Given the description of an element on the screen output the (x, y) to click on. 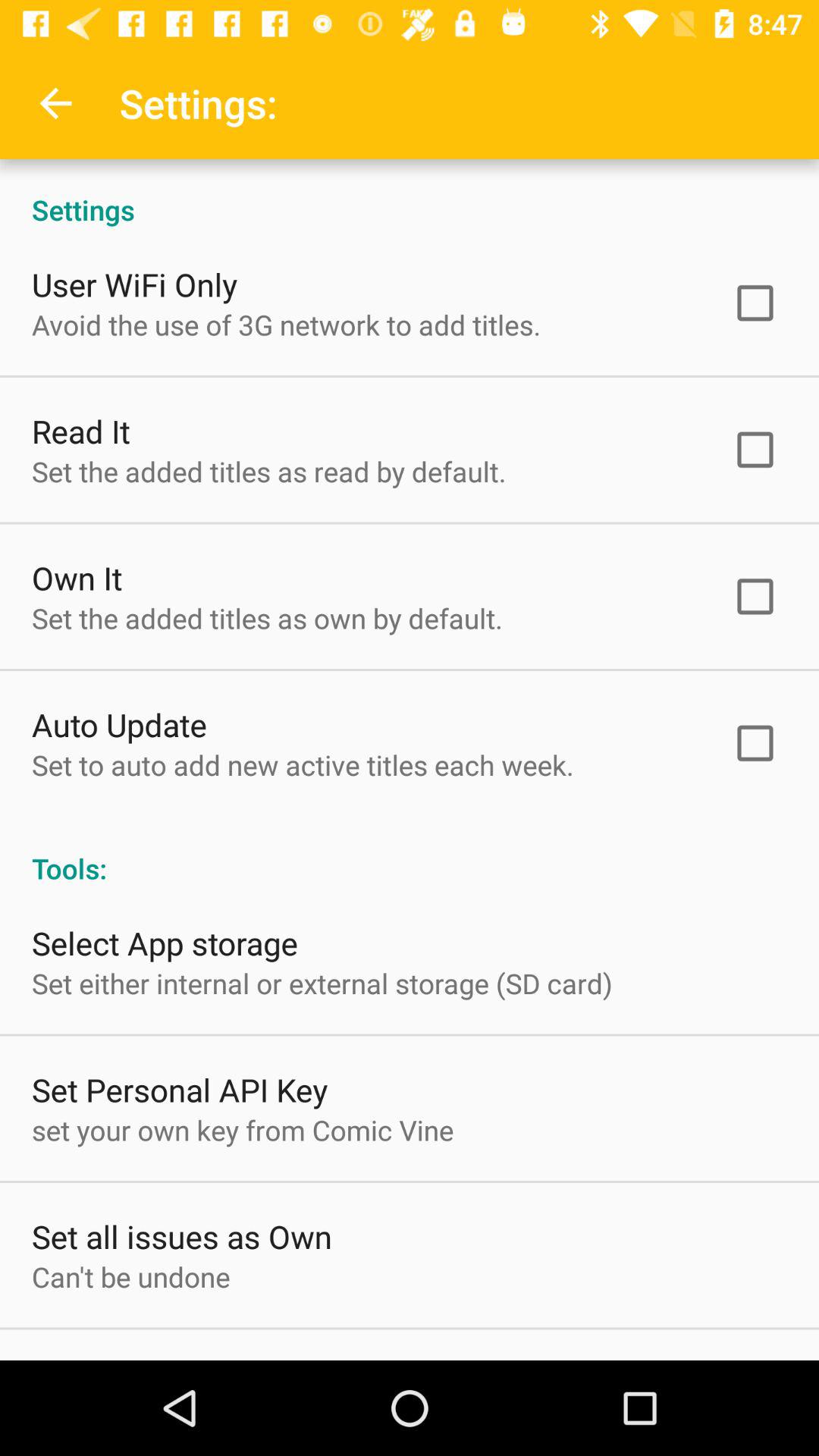
click the set all issues icon (181, 1236)
